Given the description of an element on the screen output the (x, y) to click on. 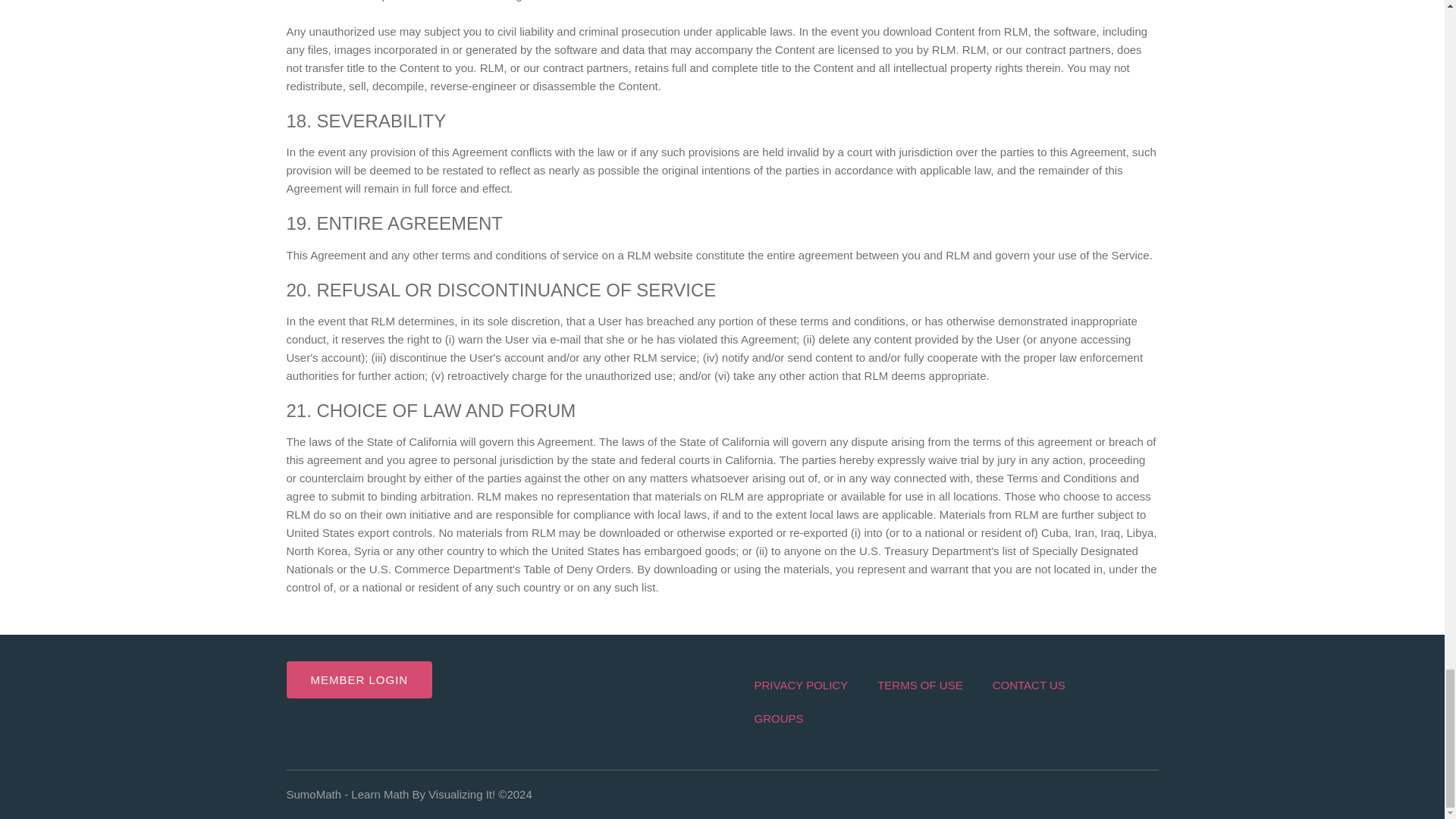
PRIVACY POLICY (800, 685)
MEMBER LOGIN (359, 679)
GROUPS (778, 718)
CONTACT US (1028, 685)
TERMS OF USE (919, 685)
